Given the description of an element on the screen output the (x, y) to click on. 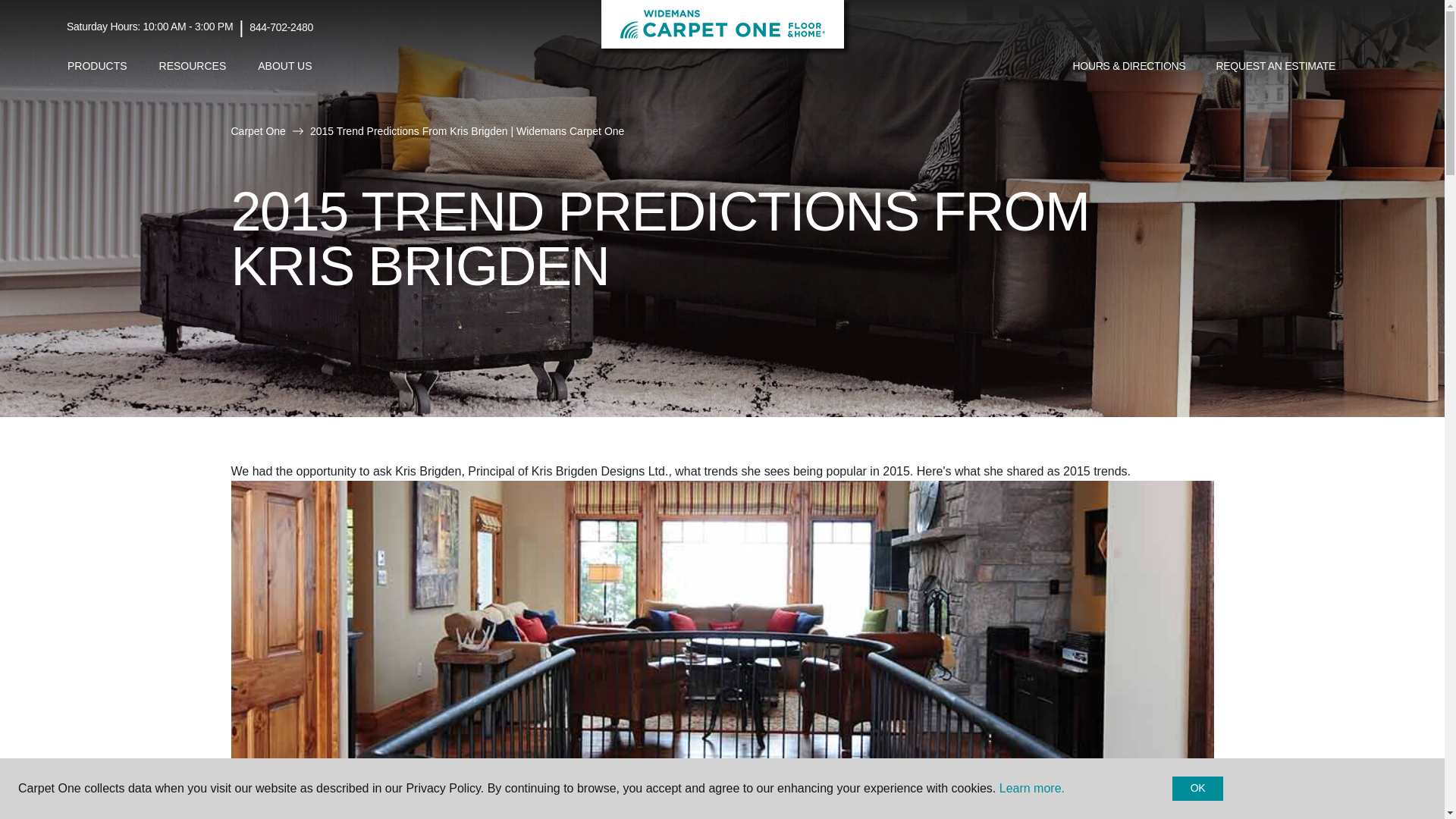
RESOURCES (193, 66)
REQUEST AN ESTIMATE (1276, 66)
PRODUCTS (97, 66)
844-702-2480 (280, 27)
ABOUT US (284, 66)
